Given the description of an element on the screen output the (x, y) to click on. 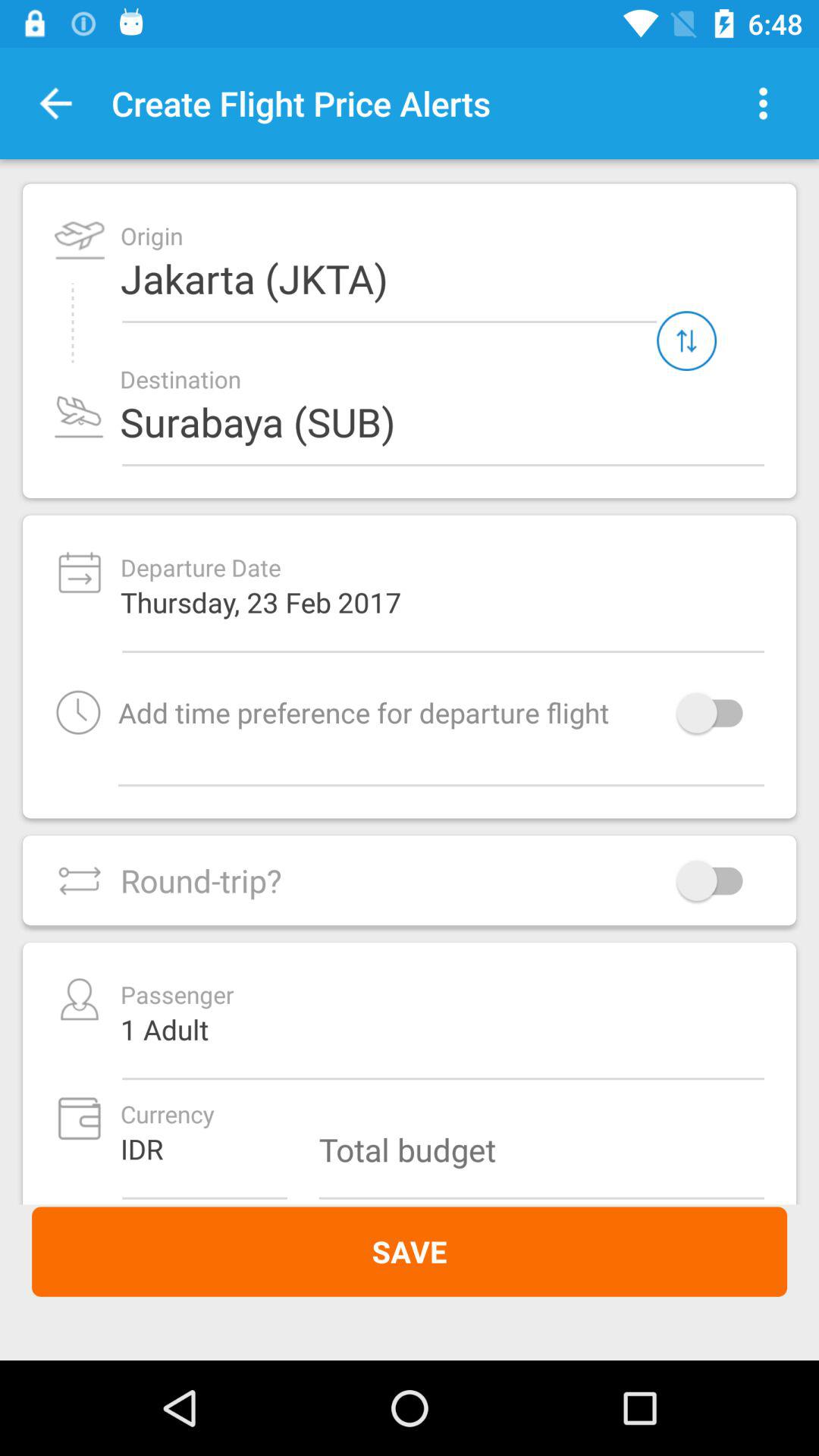
switch on round-trip option (717, 880)
